Given the description of an element on the screen output the (x, y) to click on. 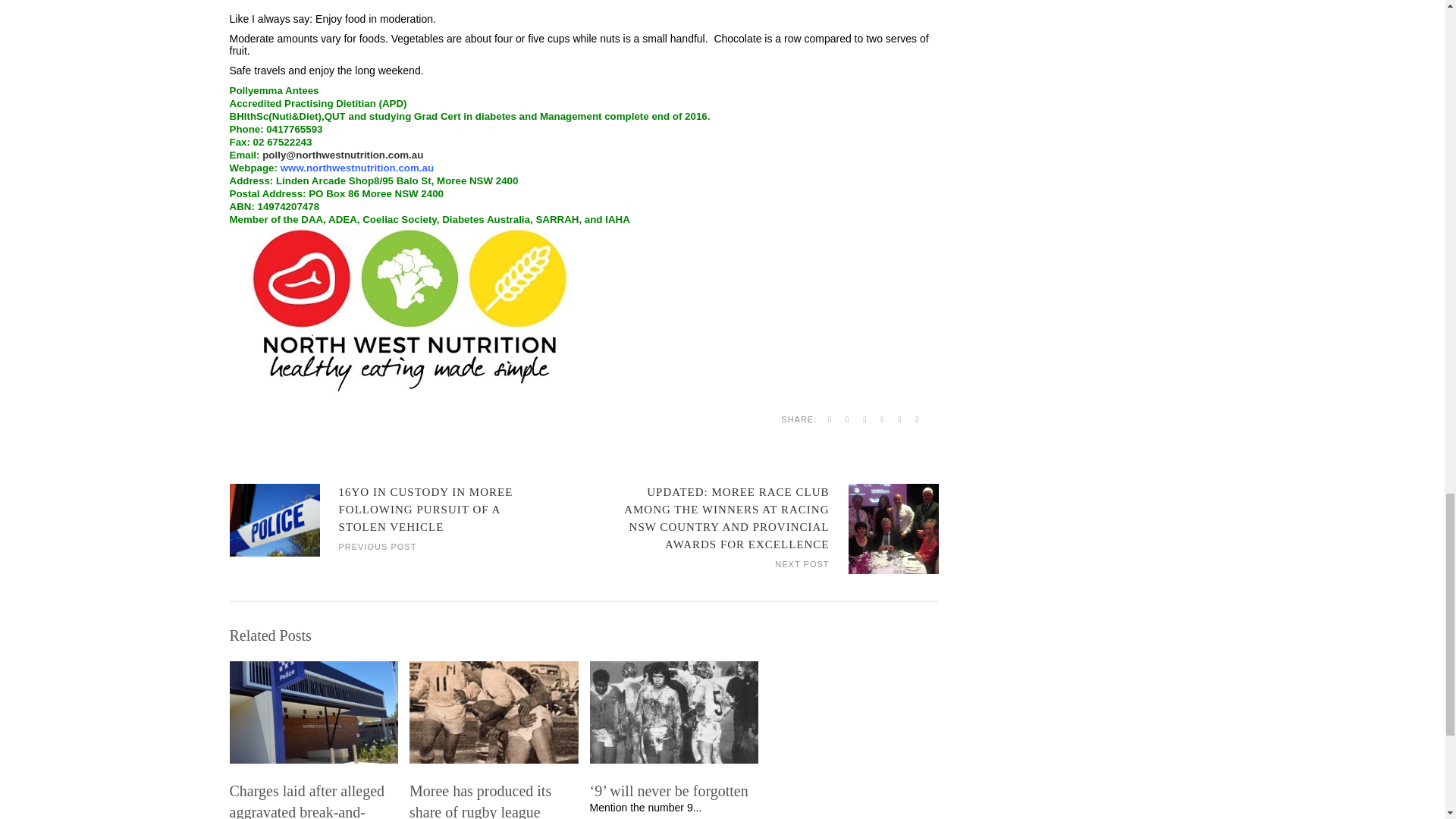
PREVIOUS POST (376, 545)
Moree has produced its share of rugby league greats (493, 799)
www.northwestnutrition.com.au (357, 167)
